Given the description of an element on the screen output the (x, y) to click on. 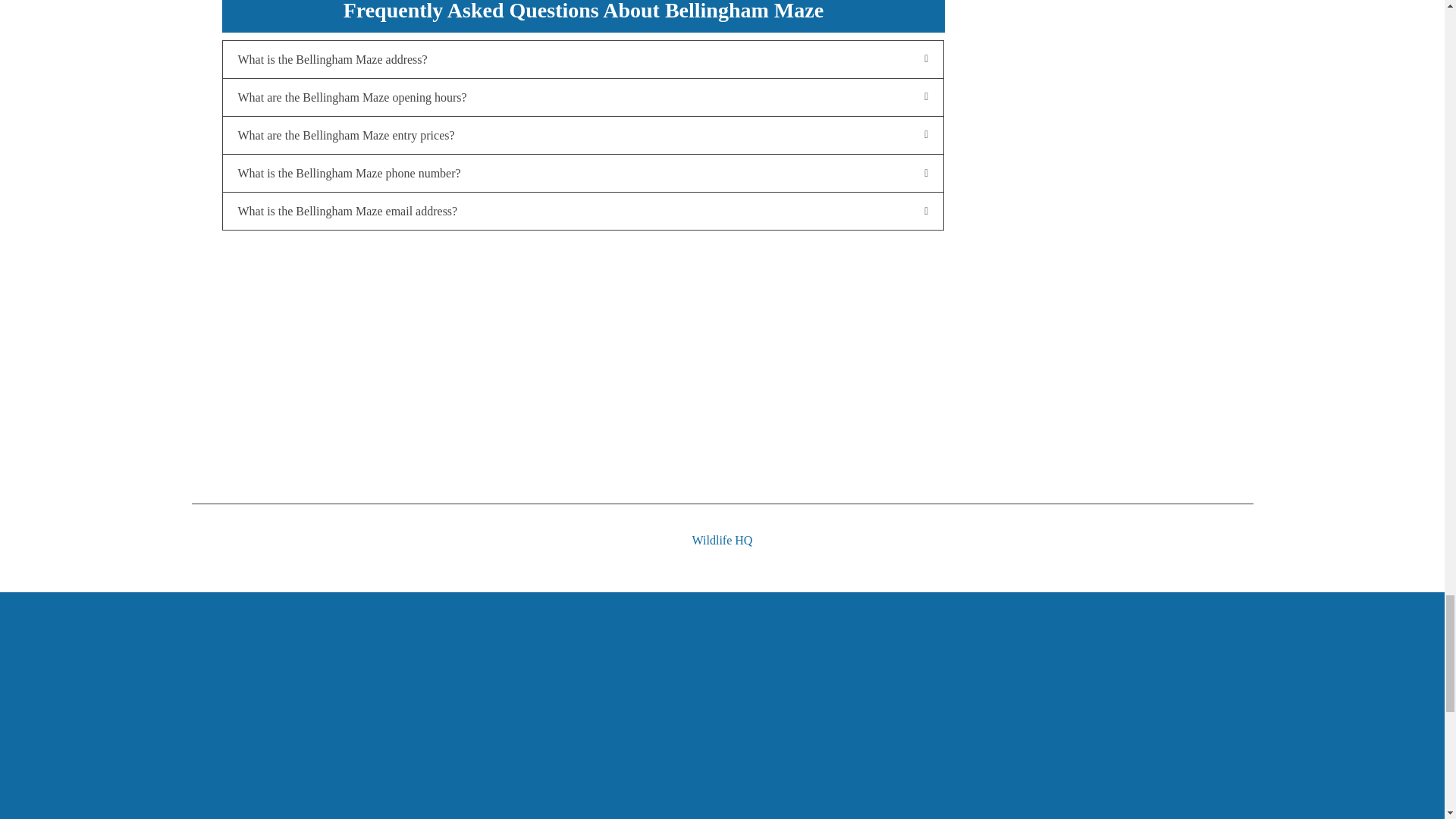
Wildlife HQ (721, 526)
